Given the description of an element on the screen output the (x, y) to click on. 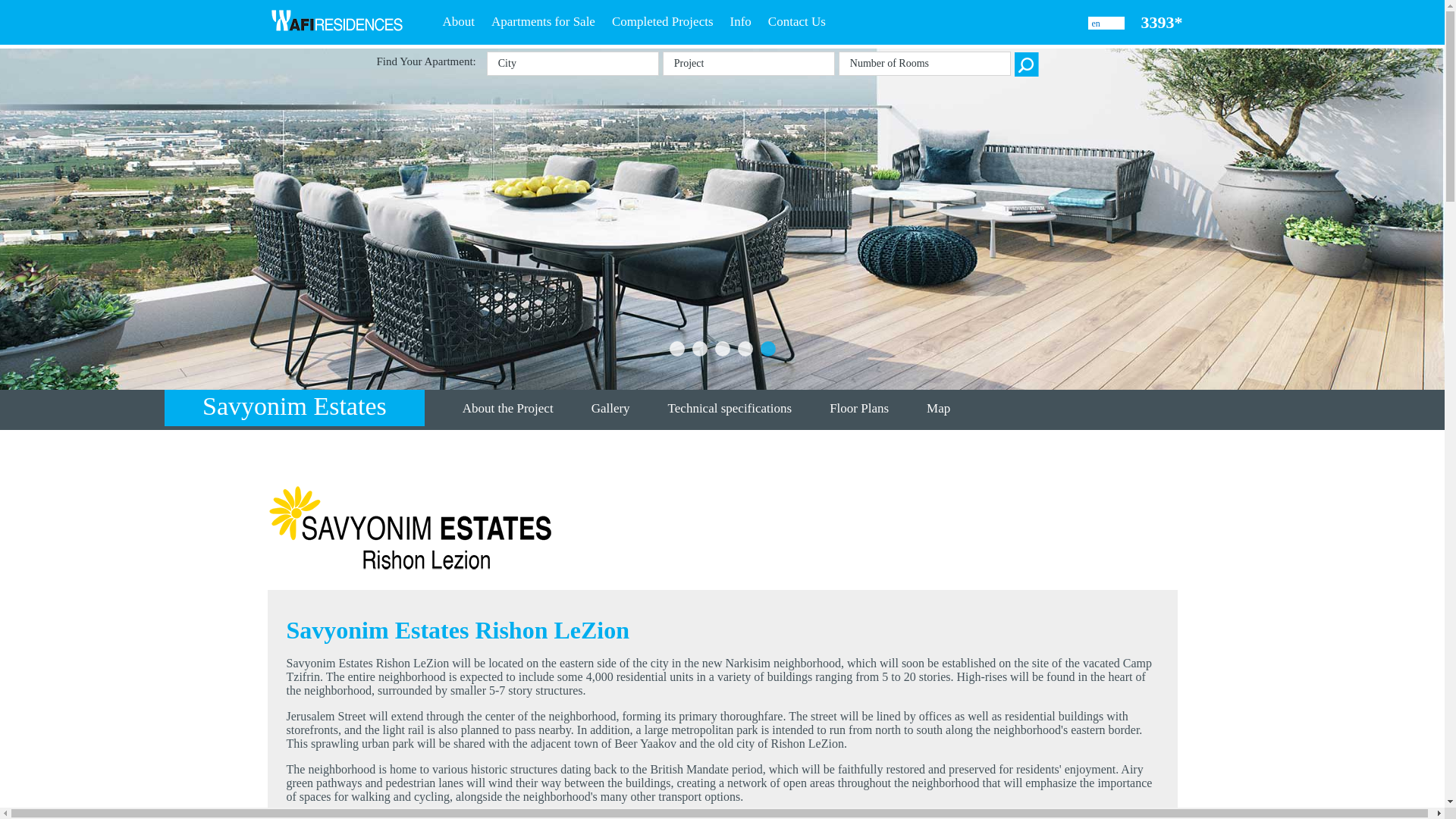
About (459, 21)
Apartments for Sale (543, 21)
Contact Us (796, 21)
About (459, 21)
Apartments for Sale (543, 21)
Completed Projects (662, 21)
Contact Us (796, 21)
Info (740, 21)
en (1097, 23)
Info (740, 21)
Completed Projects (662, 21)
